Given the description of an element on the screen output the (x, y) to click on. 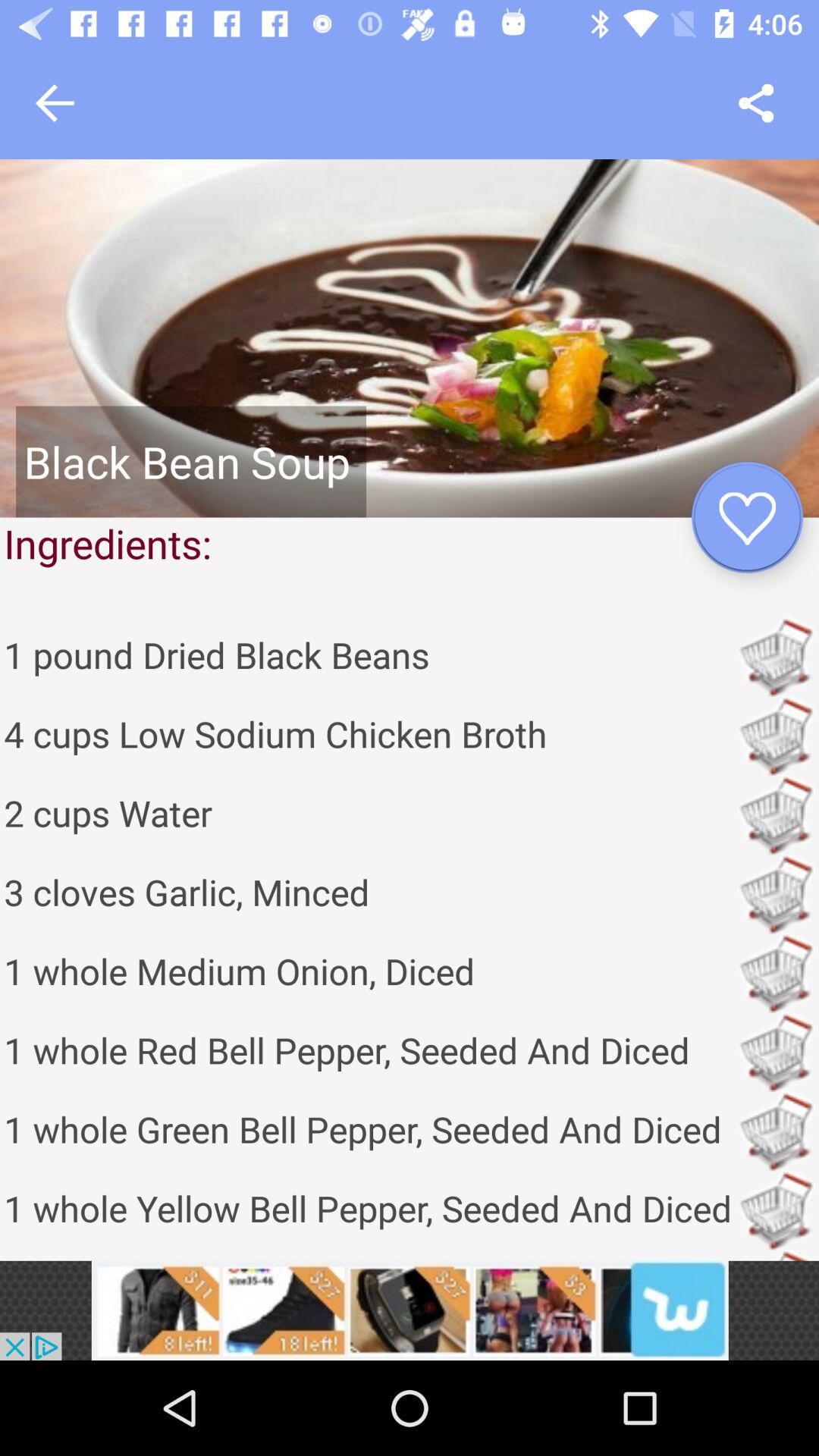
share recipe (756, 103)
